Given the description of an element on the screen output the (x, y) to click on. 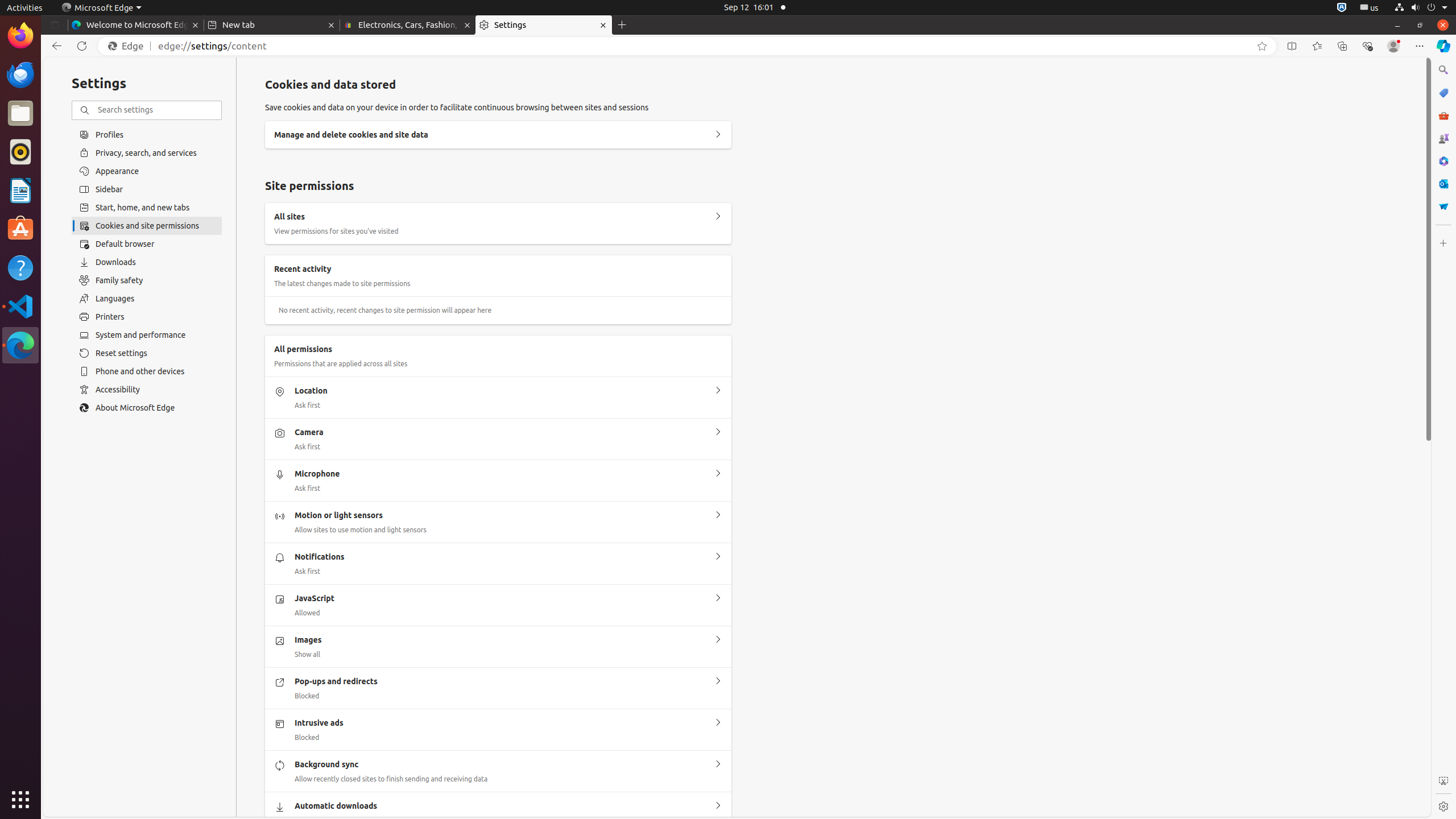
Pop-ups and redirects Element type: push-button (717, 681)
Microsoft Edge Element type: menu (101, 7)
Visual Studio Code Element type: push-button (20, 306)
Ubuntu Software Element type: push-button (20, 229)
Microsoft Shopping Element type: push-button (1443, 92)
